Given the description of an element on the screen output the (x, y) to click on. 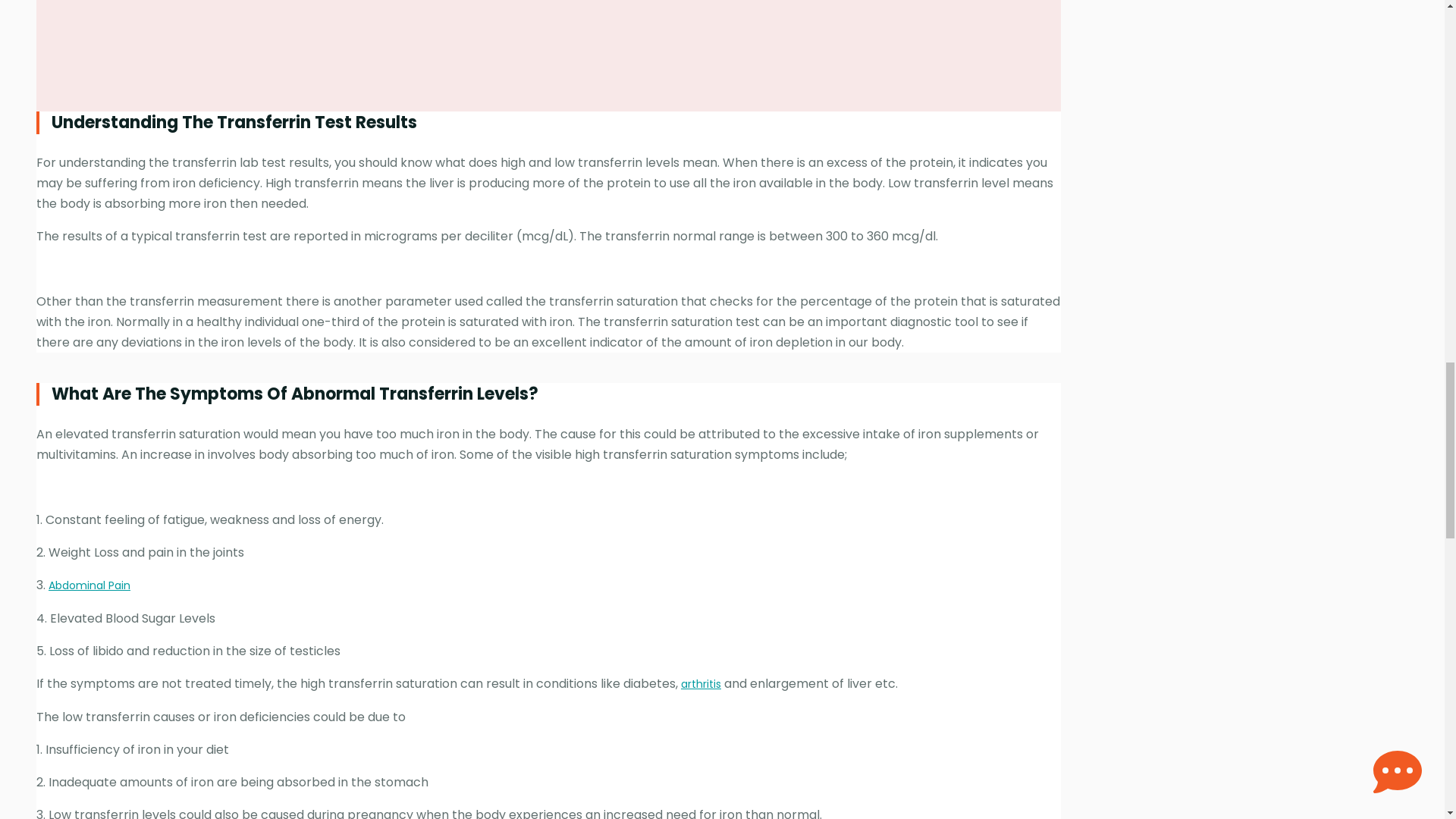
arthritis (700, 683)
Abdominal Pain (89, 585)
